Given the description of an element on the screen output the (x, y) to click on. 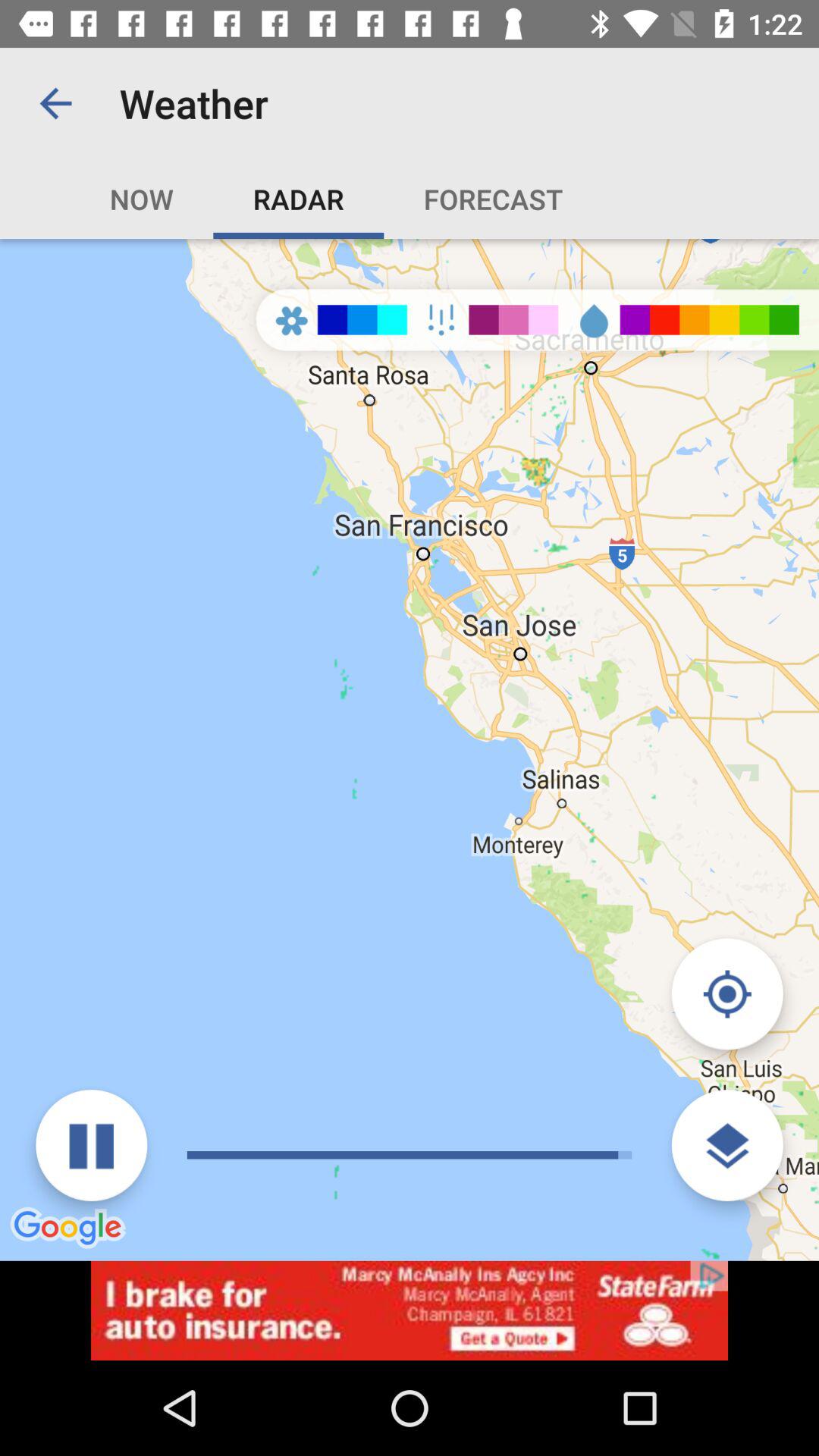
visit the advertisement site (409, 1310)
